Given the description of an element on the screen output the (x, y) to click on. 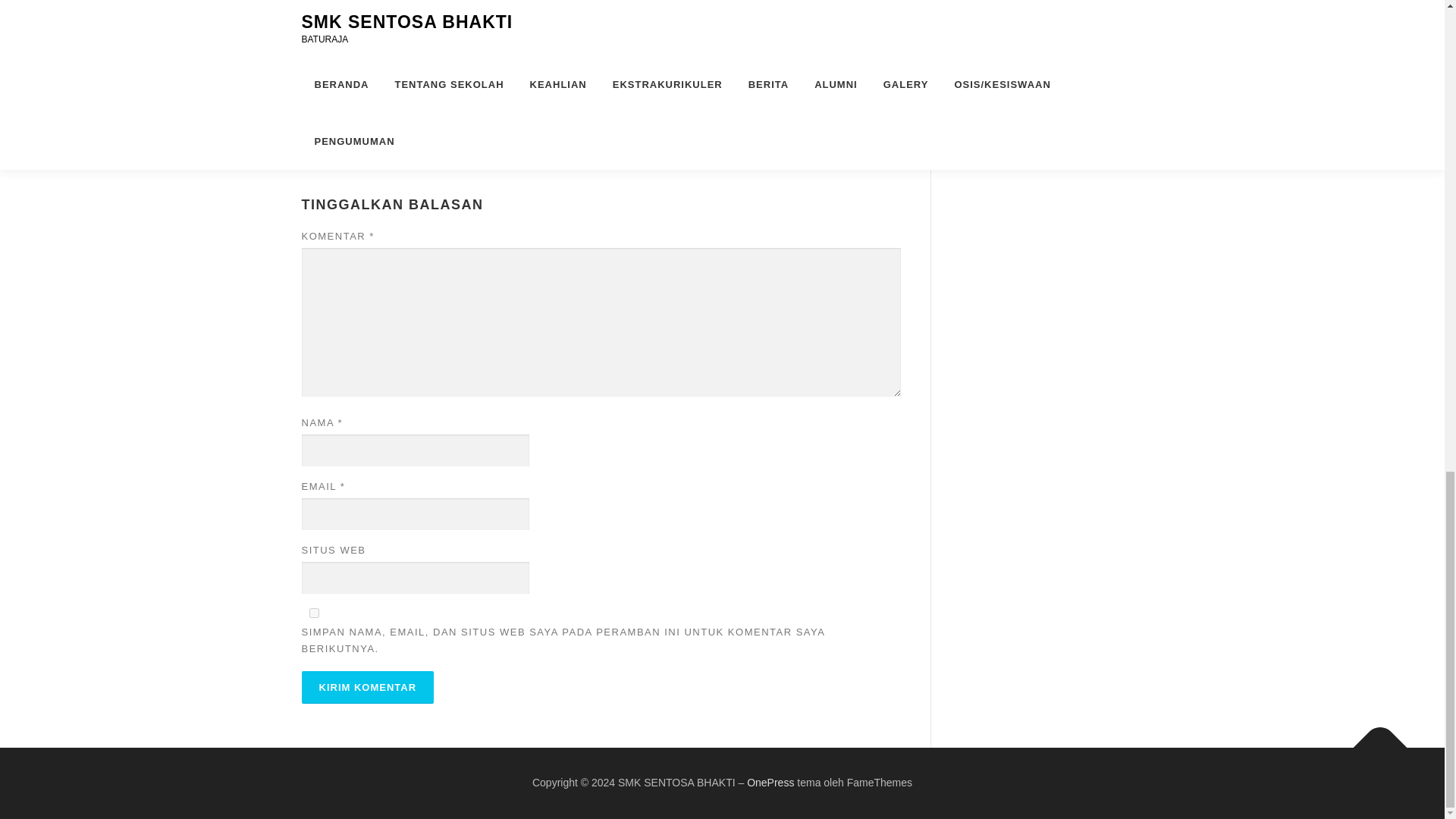
Kirim Komentar (367, 686)
Kembali ke Atas (1372, 739)
yes (313, 613)
